Given the description of an element on the screen output the (x, y) to click on. 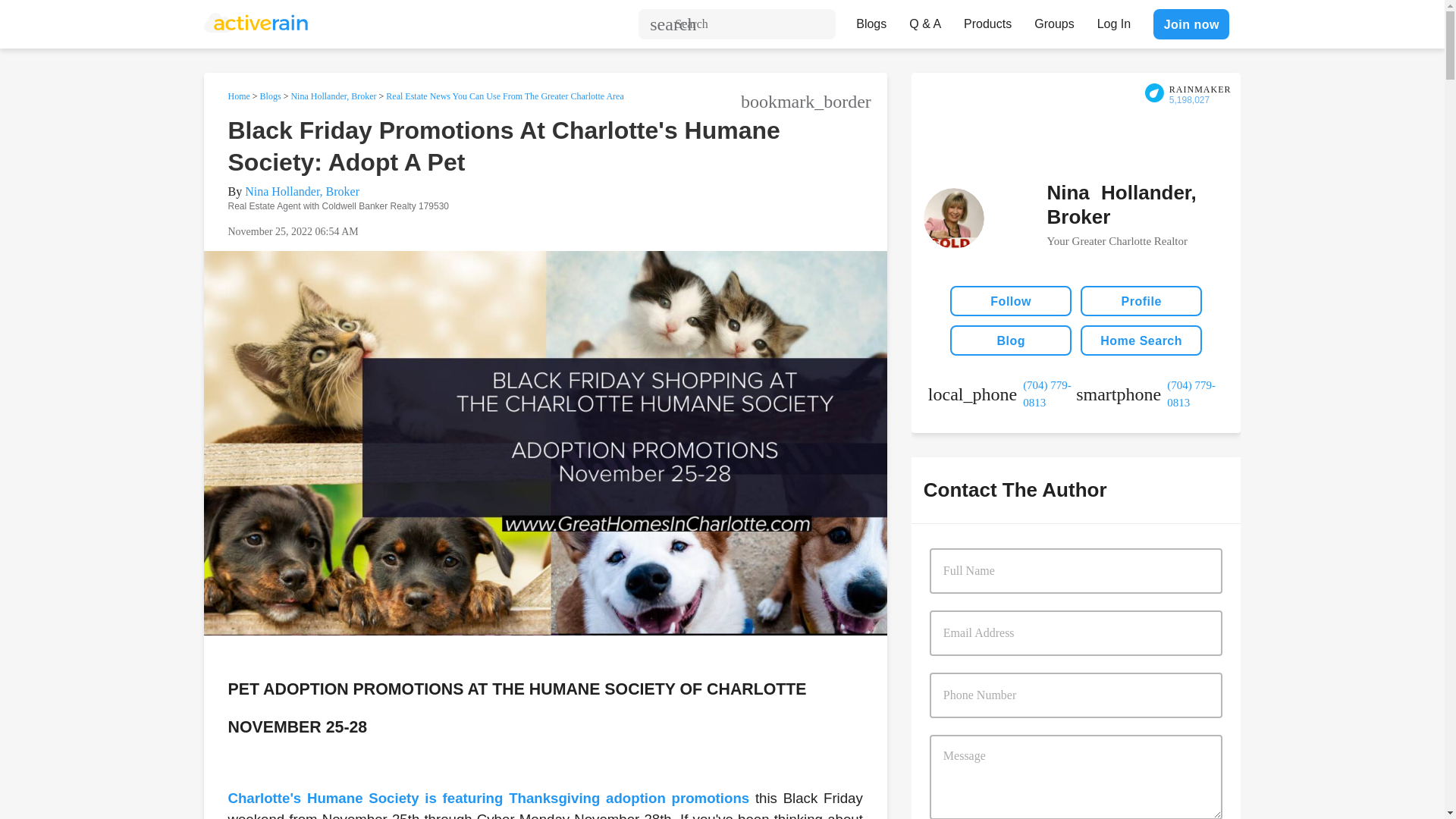
Join now (1190, 24)
Groups (1053, 19)
Real Estate News You Can Use From The Greater Charlotte Area (504, 95)
Products (986, 19)
Nina Hollander, Broker (332, 95)
Nina Hollander, Broker (301, 191)
Blogs (270, 95)
Log In (1113, 19)
Blogs (870, 19)
